Given the description of an element on the screen output the (x, y) to click on. 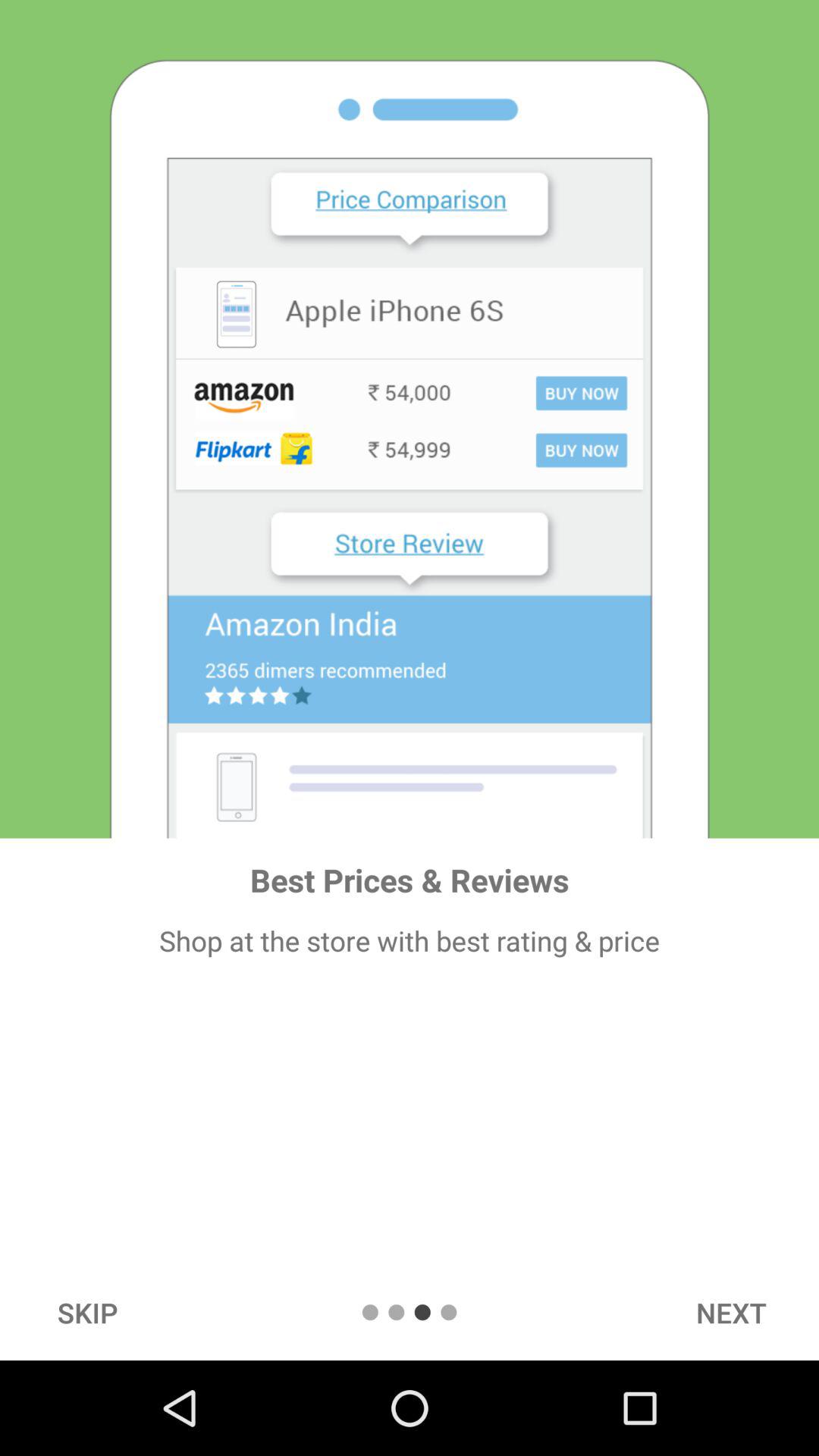
choose skip (87, 1312)
